Given the description of an element on the screen output the (x, y) to click on. 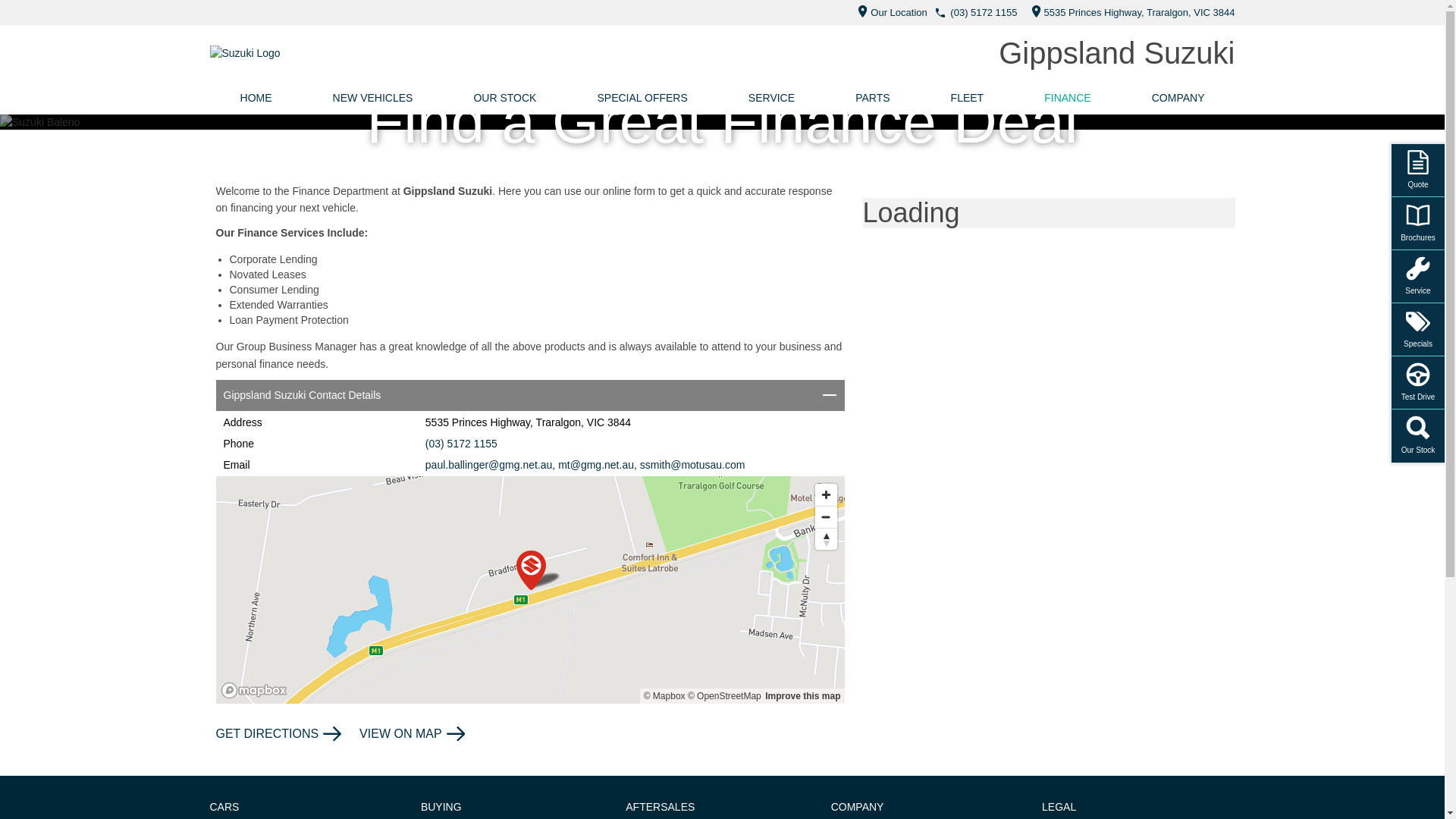
NEW VEHICLES Element type: text (372, 97)
5535 Princes Highway, Traralgon, VIC 3844 Element type: text (1129, 12)
SERVICE Element type: text (771, 97)
(03) 5172 1155 Element type: text (983, 12)
Improve this map Element type: text (802, 695)
HOME Element type: text (255, 97)
Zoom out Element type: hover (825, 516)
FINANCE Element type: text (1067, 97)
Gippsland Suzuki Element type: text (1116, 52)
FLEET Element type: text (967, 97)
SPECIAL OFFERS Element type: text (641, 97)
Our Location Element type: text (888, 12)
GET DIRECTIONS Element type: text (278, 734)
(03) 5172 1155 Element type: text (461, 443)
Gippsland Suzuki Contact Details Element type: text (529, 395)
COMPANY Element type: text (1178, 97)
paul.ballinger@gmg.net.au, mt@gmg.net.au, ssmith@motusau.com Element type: text (585, 464)
VIEW ON MAP Element type: text (411, 734)
OUR STOCK Element type: text (504, 97)
Reset bearing to north Element type: hover (825, 538)
Zoom in Element type: hover (825, 494)
PARTS Element type: text (872, 97)
